Given the description of an element on the screen output the (x, y) to click on. 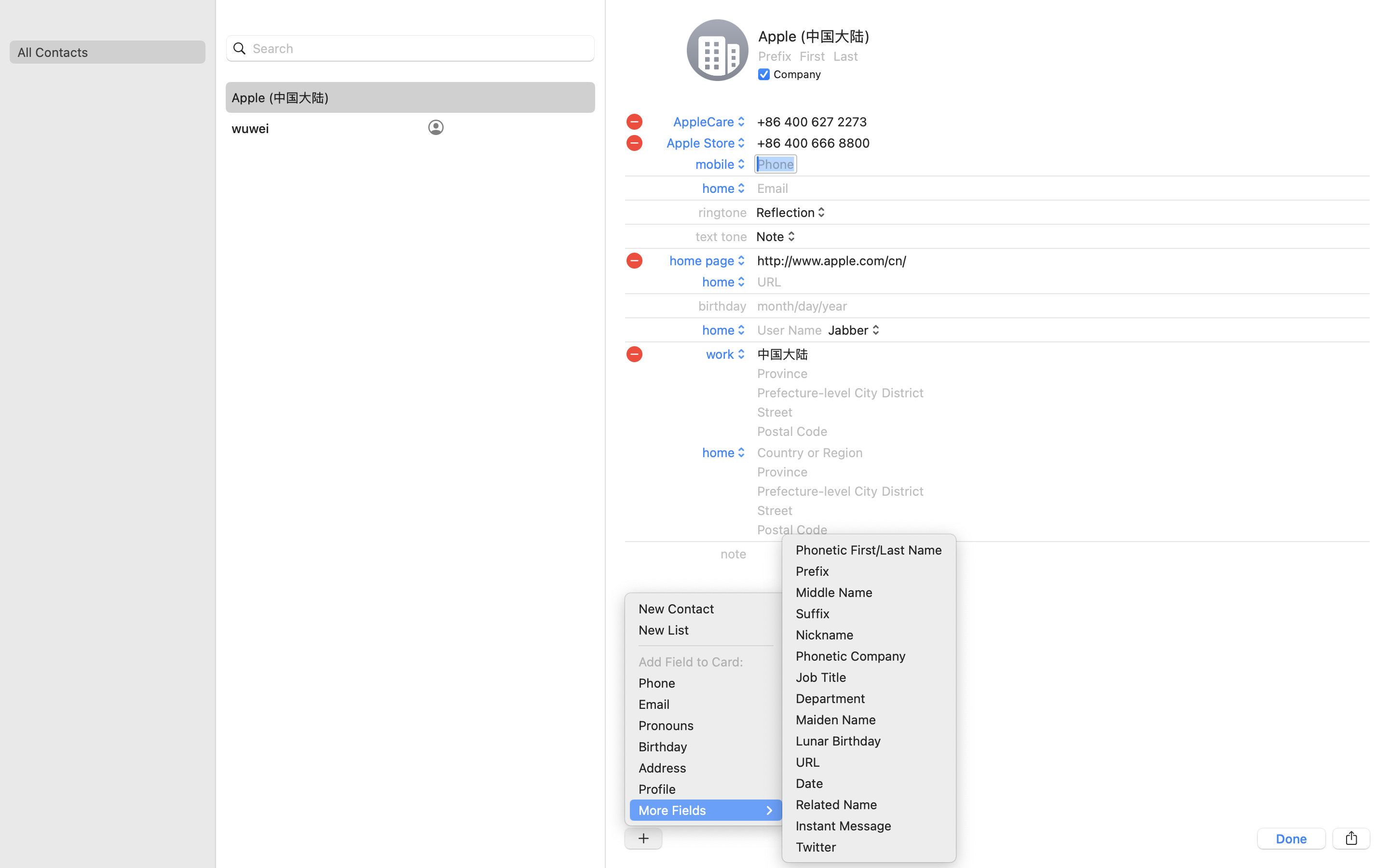
work Element type: AXStaticText (726, 353)
Note Element type: AXPopUpButton (776, 236)
birthday Element type: AXStaticText (722, 305)
note Element type: AXStaticText (733, 553)
Reflection Element type: AXPopUpButton (791, 211)
